Given the description of an element on the screen output the (x, y) to click on. 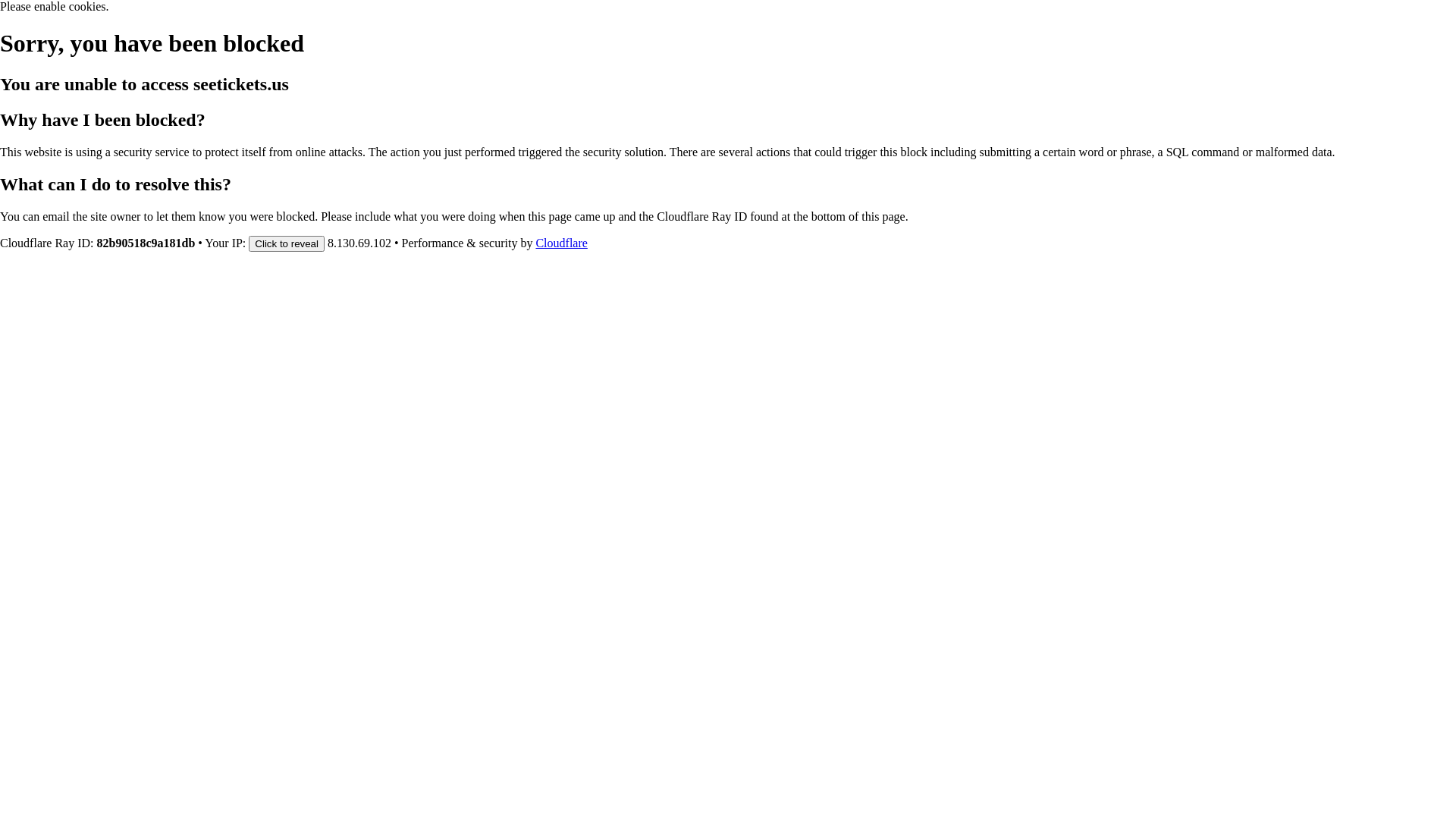
Cloudflare Element type: text (560, 242)
Click to reveal Element type: text (286, 243)
